Given the description of an element on the screen output the (x, y) to click on. 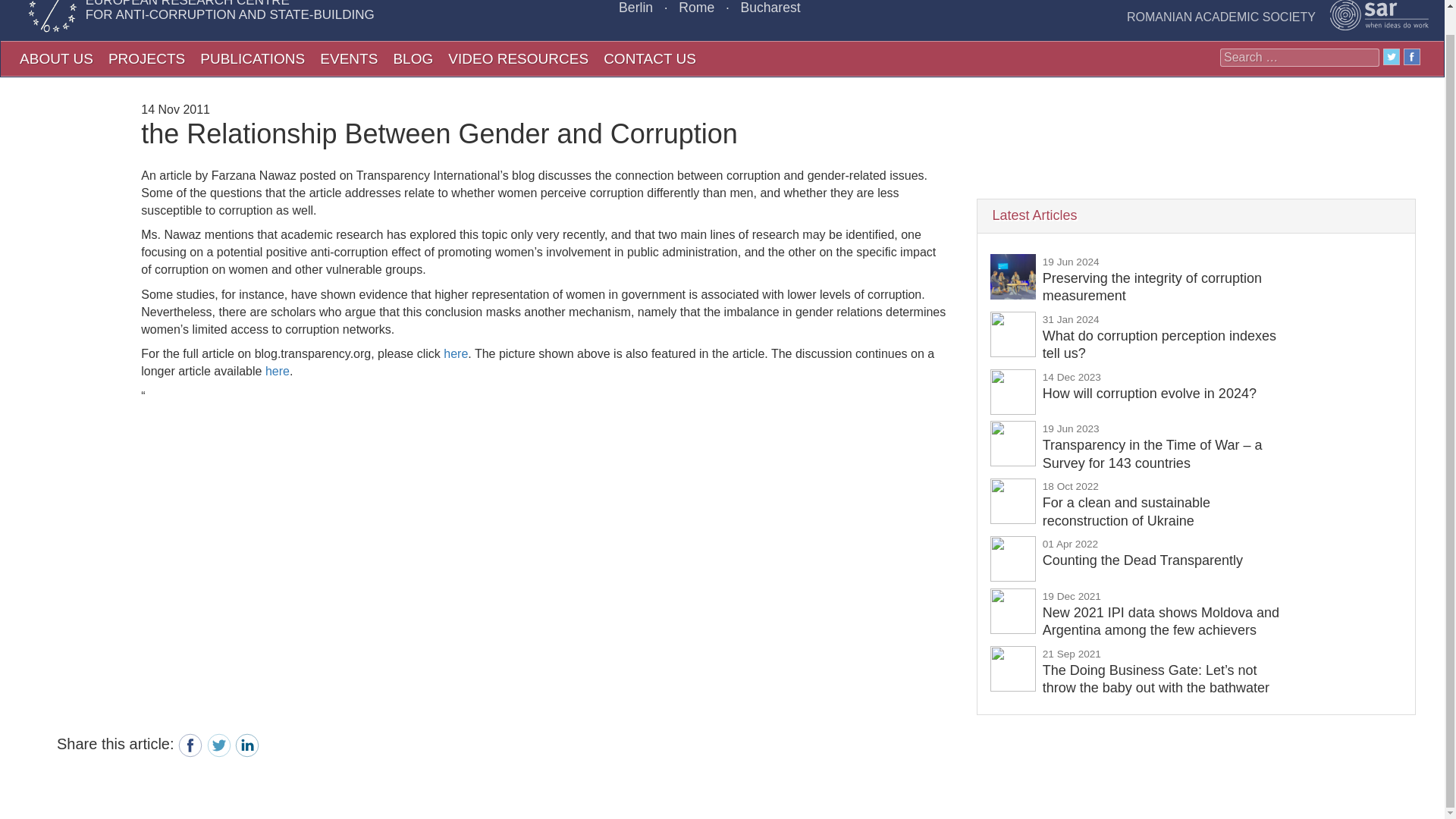
What do corruption perception indexes tell us? (1159, 336)
Counting the Dead Transparently (1142, 552)
EVENTS (348, 58)
here (276, 370)
How will corruption evolve in 2024? (1142, 552)
PUBLICATIONS (1149, 385)
